Given the description of an element on the screen output the (x, y) to click on. 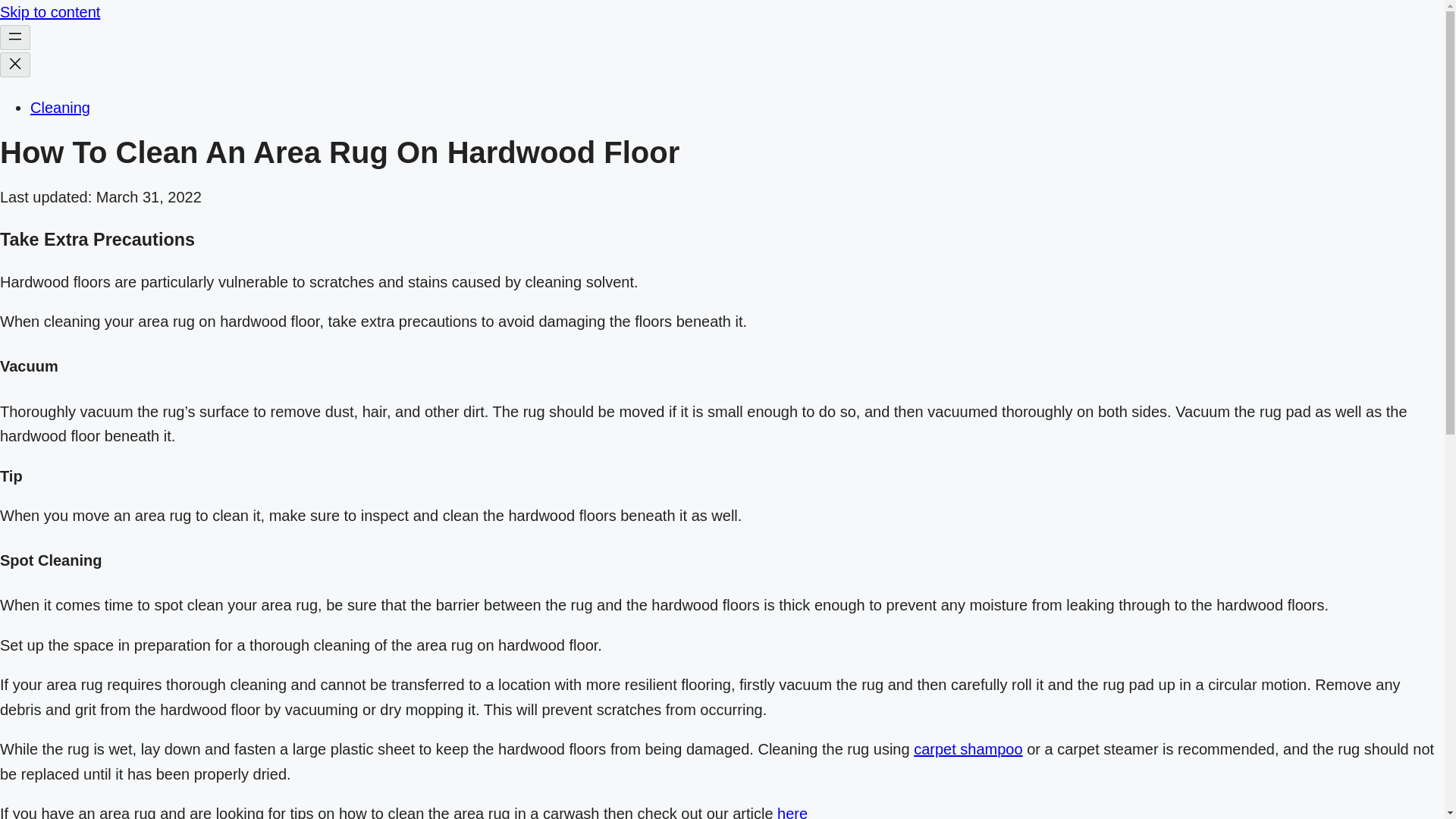
Skip to content (50, 12)
Skip to content (50, 12)
Cleaning (60, 106)
carpet shampoo (968, 749)
here (792, 812)
